Given the description of an element on the screen output the (x, y) to click on. 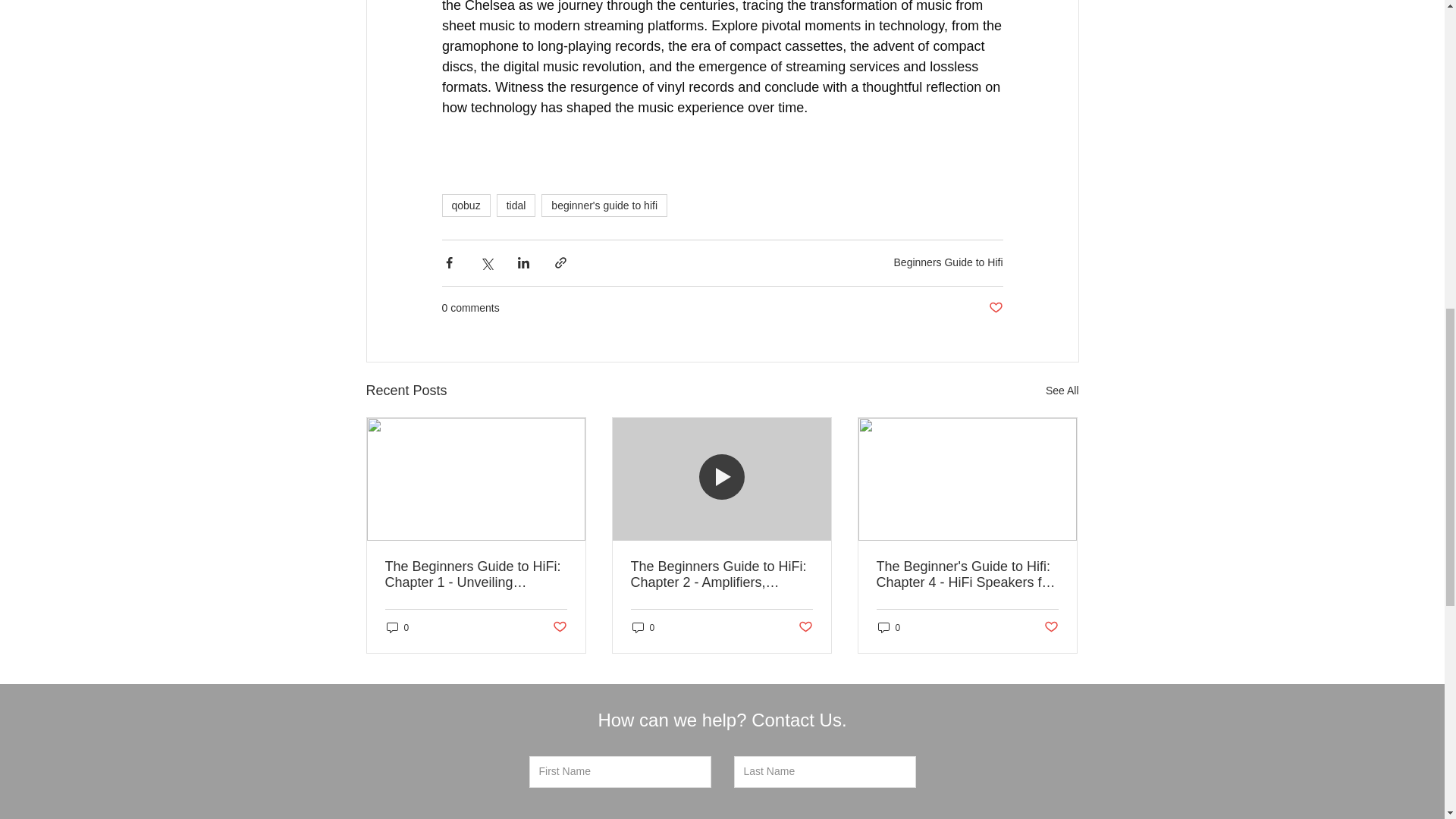
0 (397, 626)
Post not marked as liked (558, 627)
Beginners Guide to Hifi (948, 262)
tidal (515, 205)
Post not marked as liked (804, 627)
0 (643, 626)
beginner's guide to hifi (603, 205)
qobuz (465, 205)
See All (1061, 391)
